Given the description of an element on the screen output the (x, y) to click on. 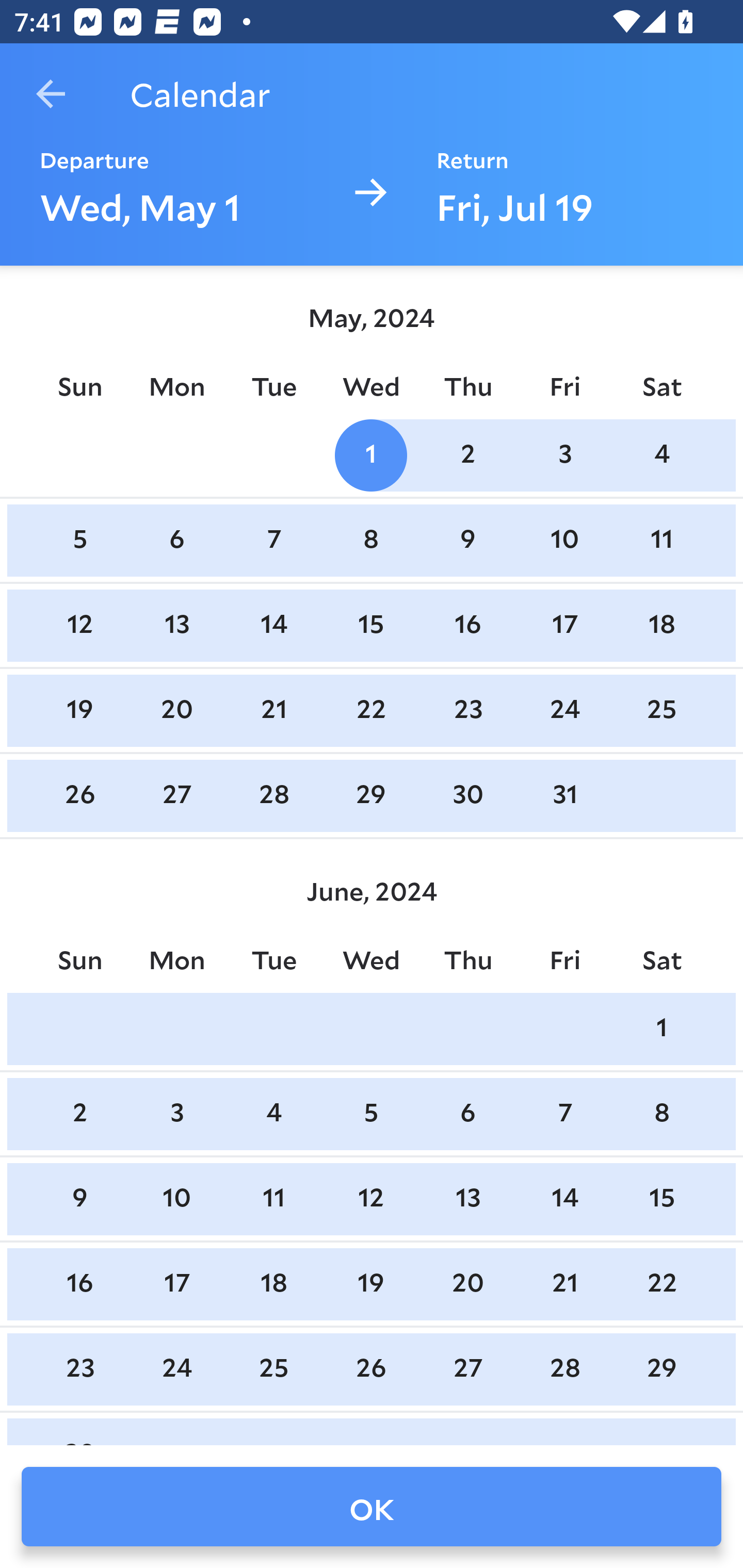
Navigate up (50, 93)
1 (371, 454)
2 (467, 454)
3 (565, 454)
4 (661, 454)
5 (79, 540)
6 (177, 540)
7 (273, 540)
8 (371, 540)
9 (467, 540)
10 (565, 540)
11 (661, 540)
12 (79, 625)
13 (177, 625)
14 (273, 625)
15 (371, 625)
16 (467, 625)
17 (565, 625)
18 (661, 625)
19 (79, 710)
20 (177, 710)
21 (273, 710)
22 (371, 710)
23 (467, 710)
24 (565, 710)
25 (661, 710)
26 (79, 796)
27 (177, 796)
28 (273, 796)
29 (371, 796)
30 (467, 796)
31 (565, 796)
1 (661, 1028)
2 (79, 1114)
3 (177, 1114)
4 (273, 1114)
5 (371, 1114)
6 (467, 1114)
7 (565, 1114)
8 (661, 1114)
9 (79, 1199)
10 (177, 1199)
11 (273, 1199)
12 (371, 1199)
13 (467, 1199)
14 (565, 1199)
15 (661, 1199)
16 (79, 1284)
17 (177, 1284)
18 (273, 1284)
